Given the description of an element on the screen output the (x, y) to click on. 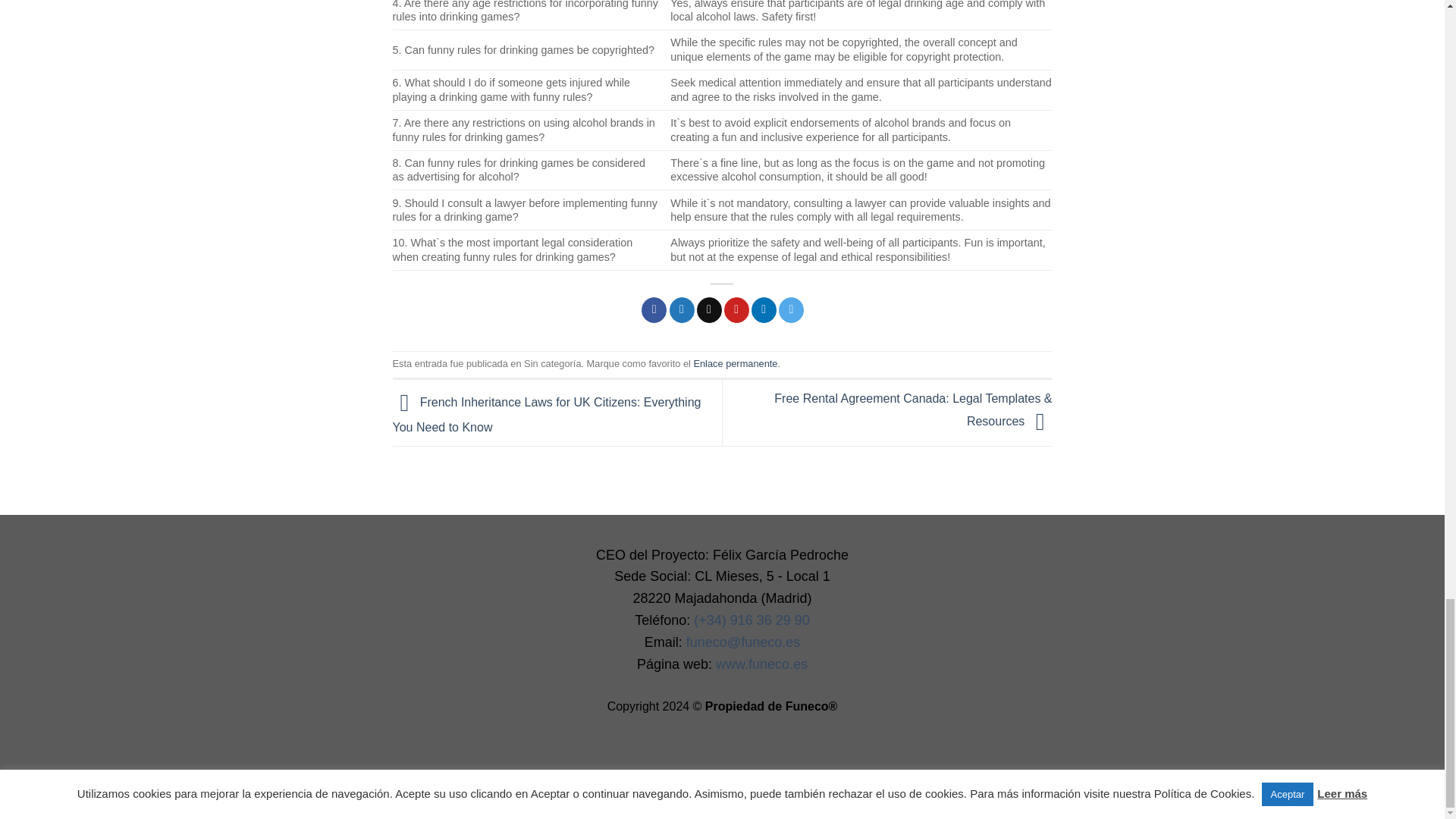
Enlace permanente (735, 363)
Compartir en Twitter (681, 309)
Compartir en LinkedIn (763, 309)
www.funeco.es (762, 663)
Compartir en Telegram (790, 309)
Pinear en Pinterest (736, 309)
Compartir en Facebook (654, 309)
